Given the description of an element on the screen output the (x, y) to click on. 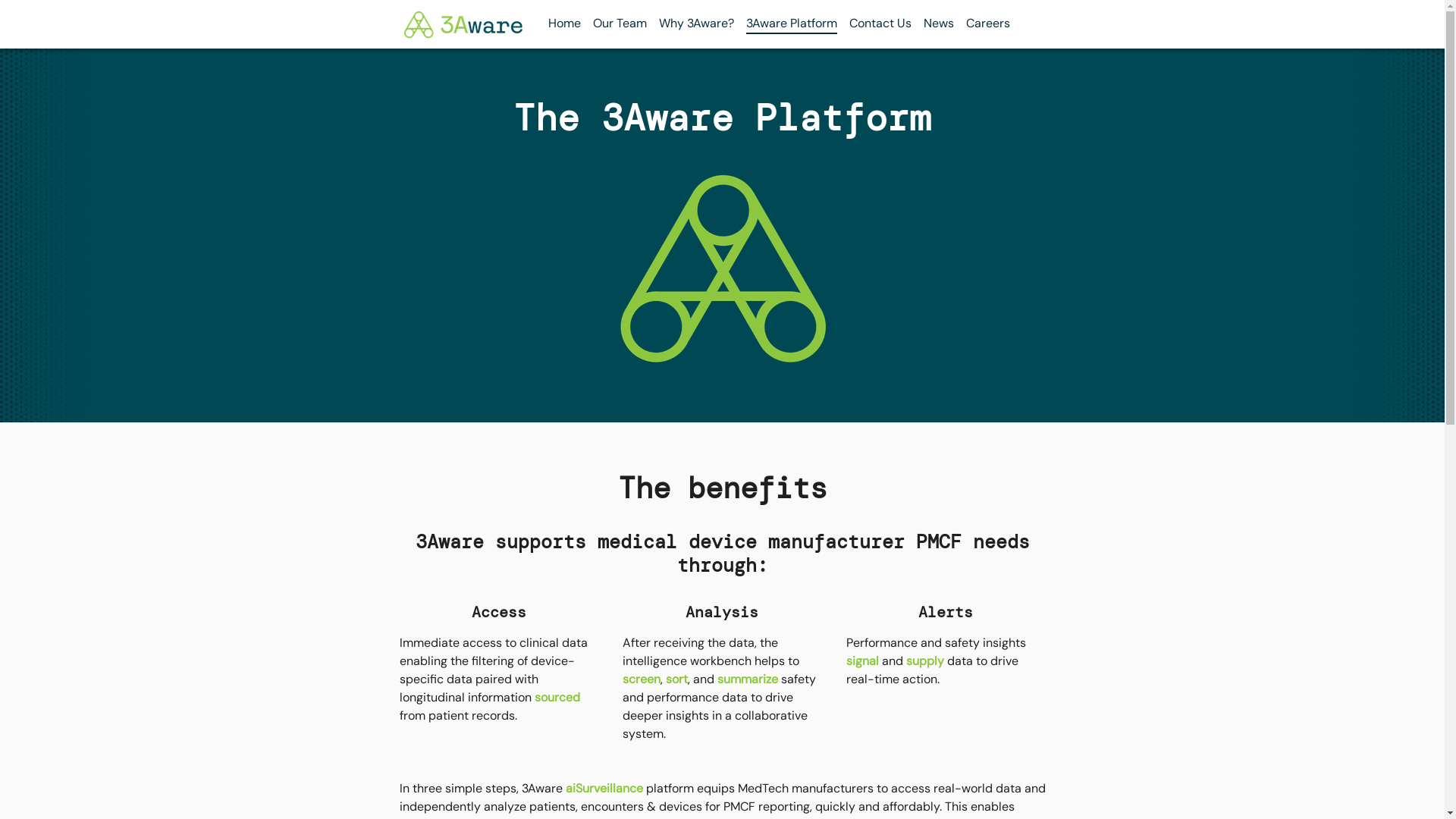
Home Element type: text (563, 23)
Careers Element type: text (988, 23)
News Element type: text (938, 23)
Why 3Aware? Element type: text (695, 23)
3Aware Platform Element type: text (791, 24)
Our Team Element type: text (619, 23)
Contact Us Element type: text (880, 23)
